Given the description of an element on the screen output the (x, y) to click on. 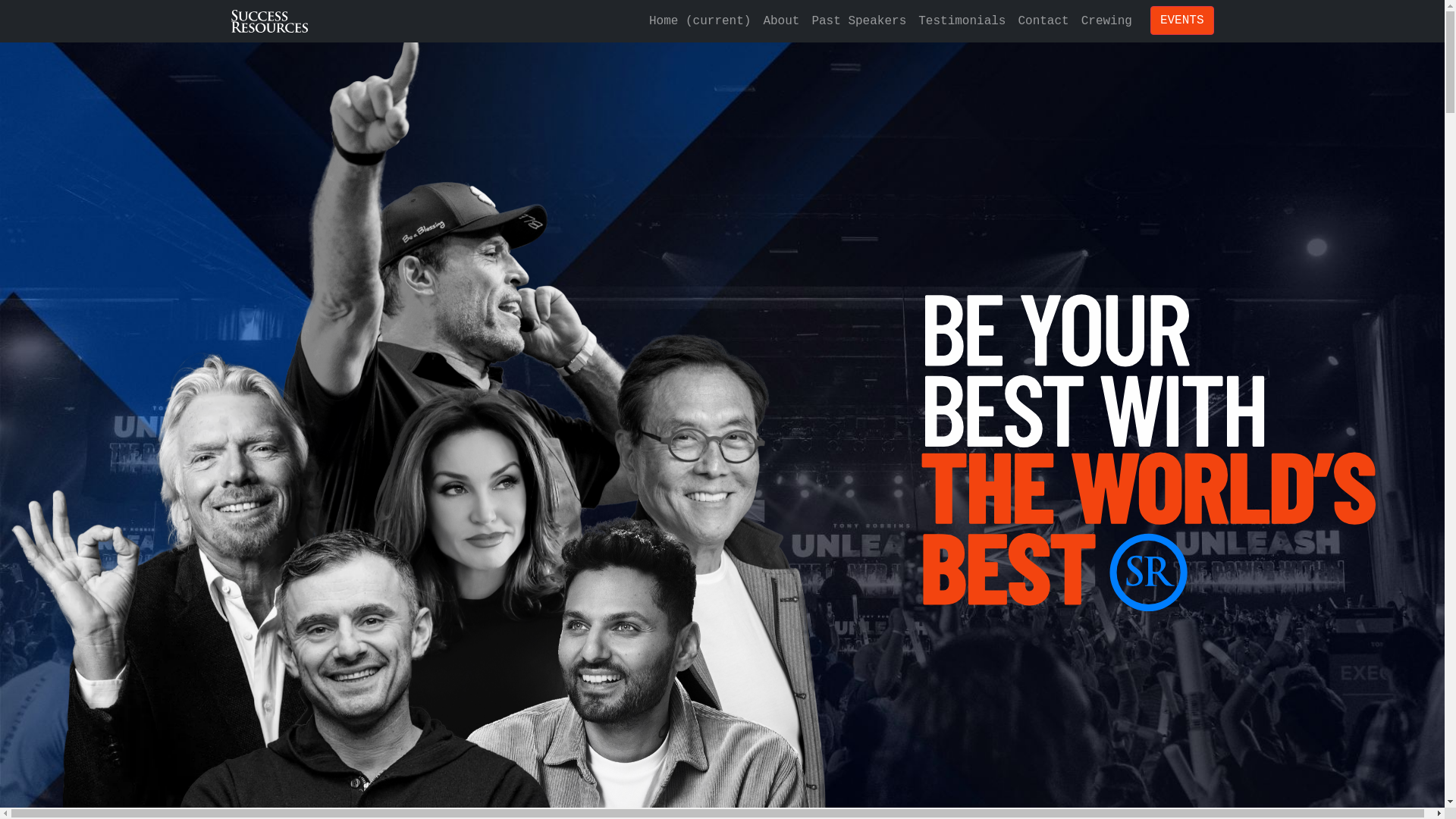
Past Speakers Element type: text (858, 21)
Testimonials Element type: text (961, 21)
EVENTS Element type: text (1182, 20)
Contact Element type: text (1042, 21)
About Element type: text (780, 21)
Crewing Element type: text (1106, 21)
Home (current) Element type: text (699, 21)
